Given the description of an element on the screen output the (x, y) to click on. 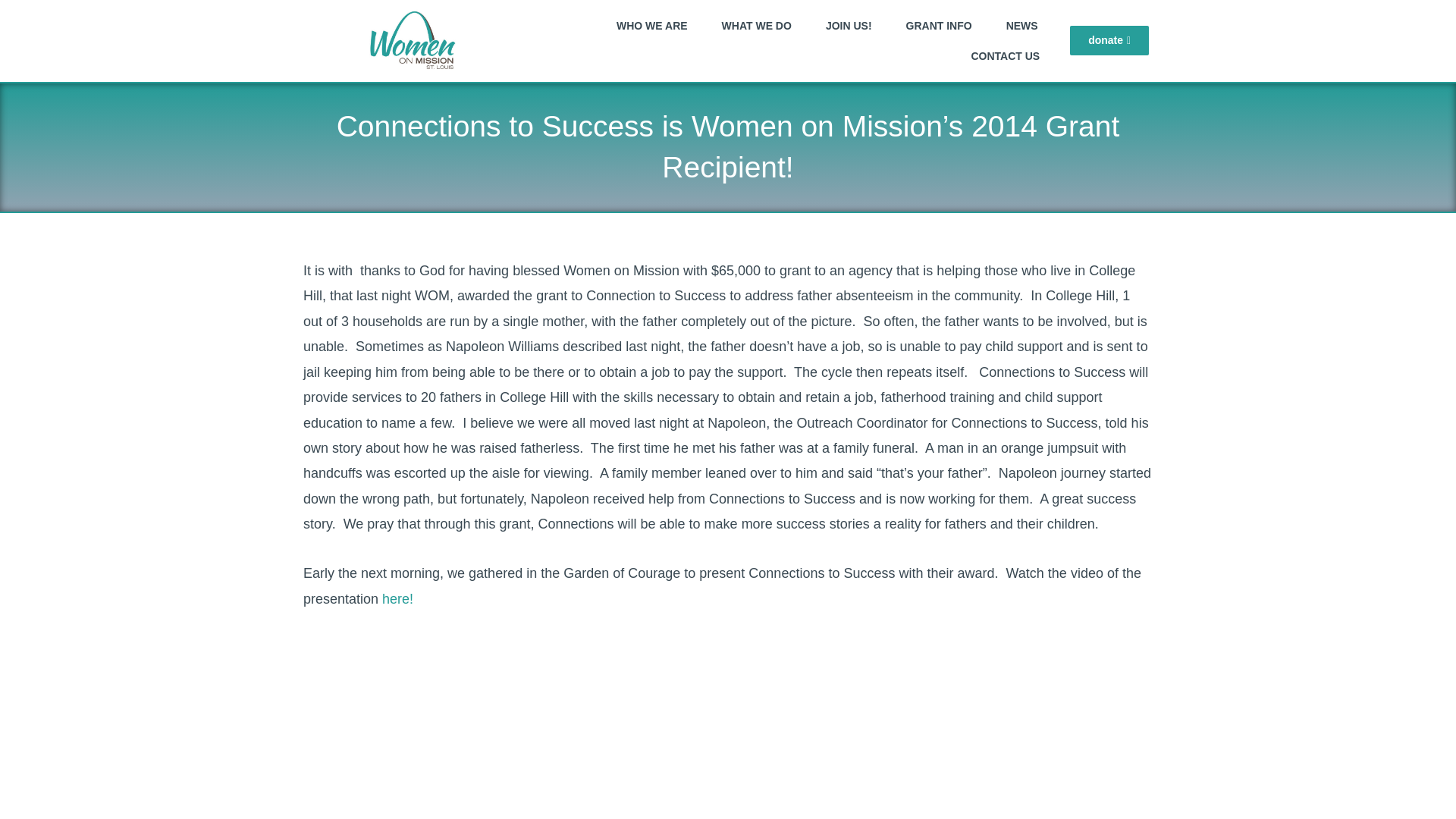
CONTACT US (1004, 55)
JOIN US! (848, 25)
donate (1109, 40)
GRANT INFO (939, 25)
WHO WE ARE (652, 25)
WHAT WE DO (756, 25)
NEWS (1021, 25)
here! (397, 598)
